Given the description of an element on the screen output the (x, y) to click on. 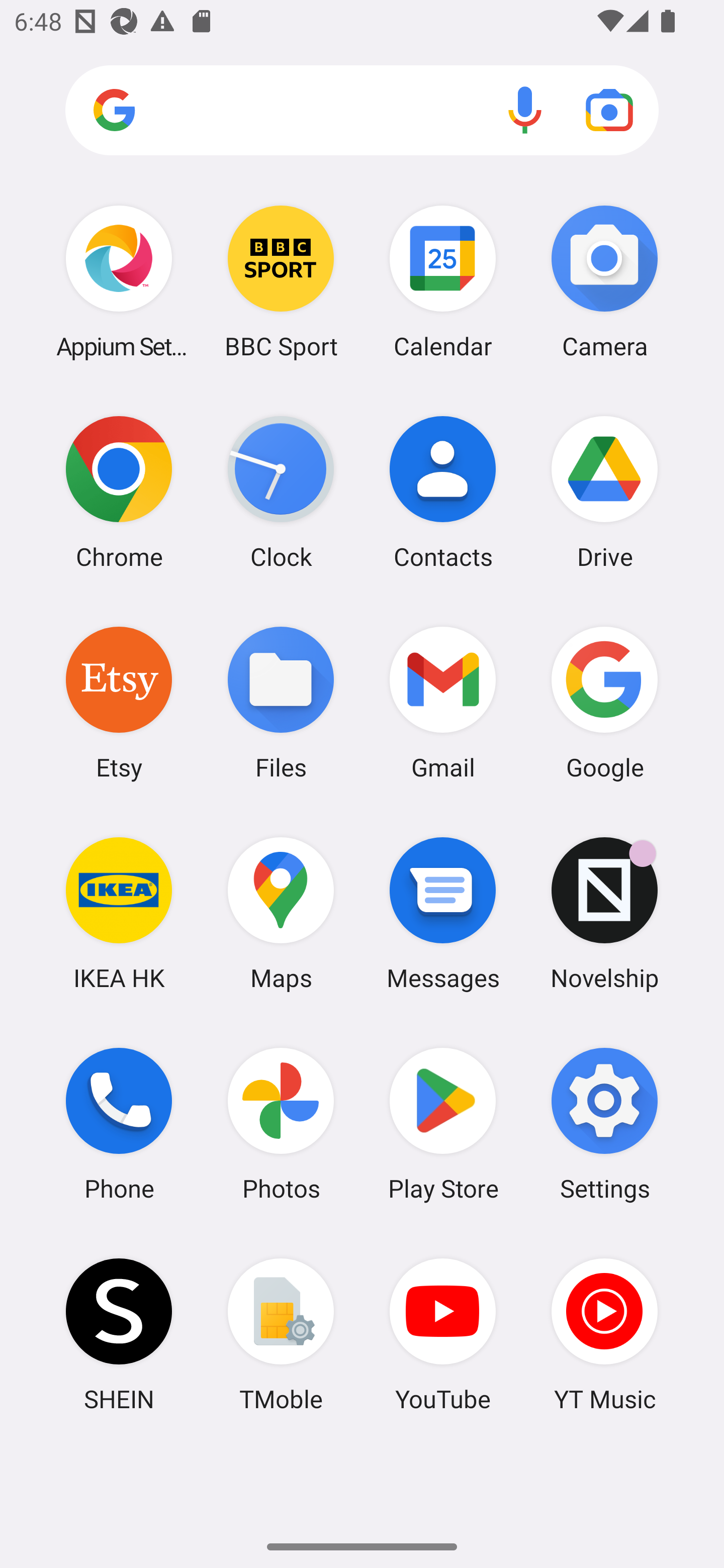
Search apps, web and more (361, 110)
Voice search (524, 109)
Google Lens (608, 109)
Appium Settings (118, 281)
BBC Sport (280, 281)
Calendar (443, 281)
Camera (604, 281)
Chrome (118, 492)
Clock (280, 492)
Contacts (443, 492)
Drive (604, 492)
Etsy (118, 702)
Files (280, 702)
Gmail (443, 702)
Google (604, 702)
IKEA HK (118, 913)
Maps (280, 913)
Messages (443, 913)
Novelship Novelship has 1 notification (604, 913)
Phone (118, 1124)
Photos (280, 1124)
Play Store (443, 1124)
Settings (604, 1124)
SHEIN (118, 1334)
TMoble (280, 1334)
YouTube (443, 1334)
YT Music (604, 1334)
